Given the description of an element on the screen output the (x, y) to click on. 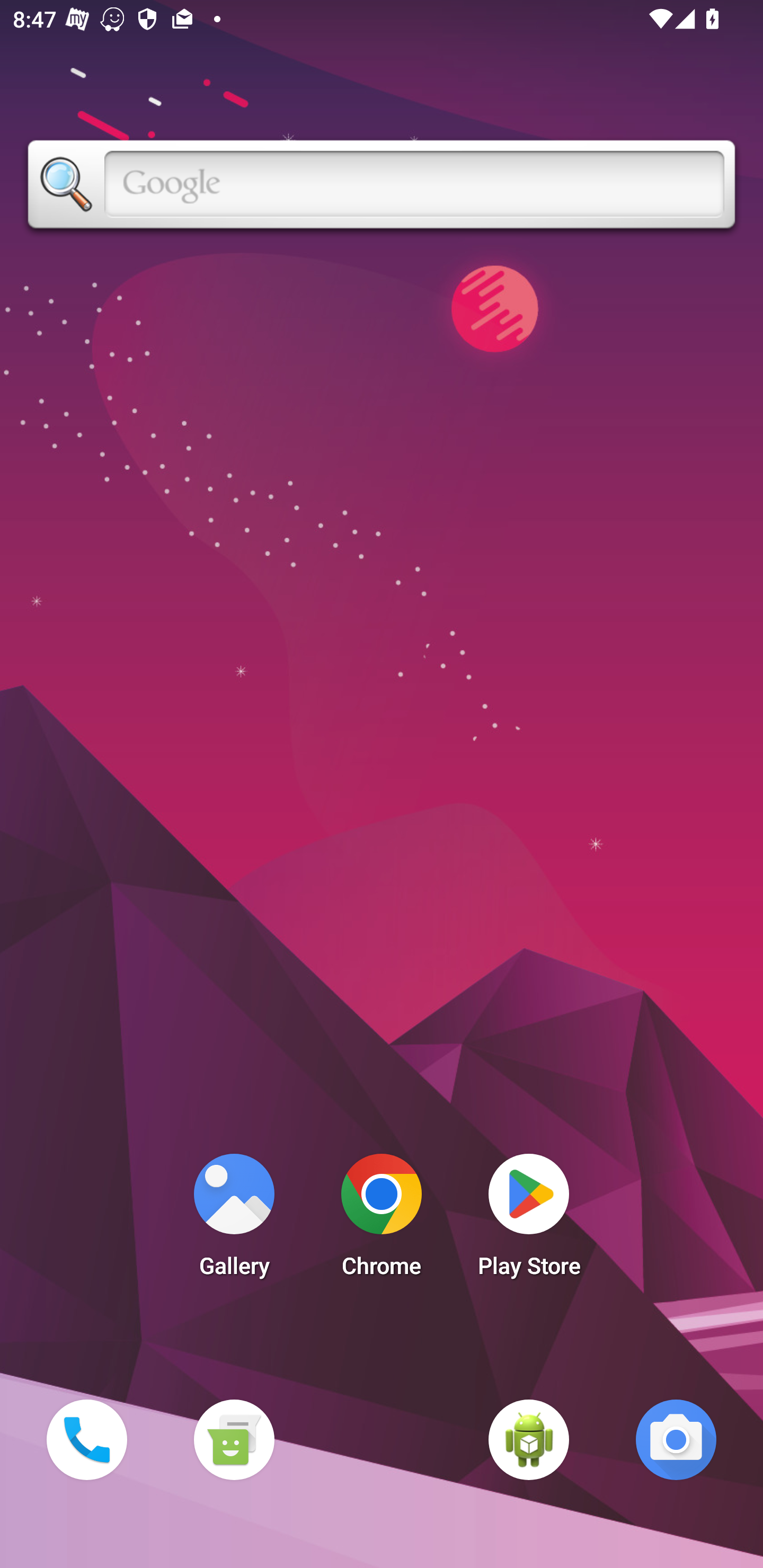
Gallery (233, 1220)
Chrome (381, 1220)
Play Store (528, 1220)
Phone (86, 1439)
Messaging (233, 1439)
WebView Browser Tester (528, 1439)
Camera (676, 1439)
